Given the description of an element on the screen output the (x, y) to click on. 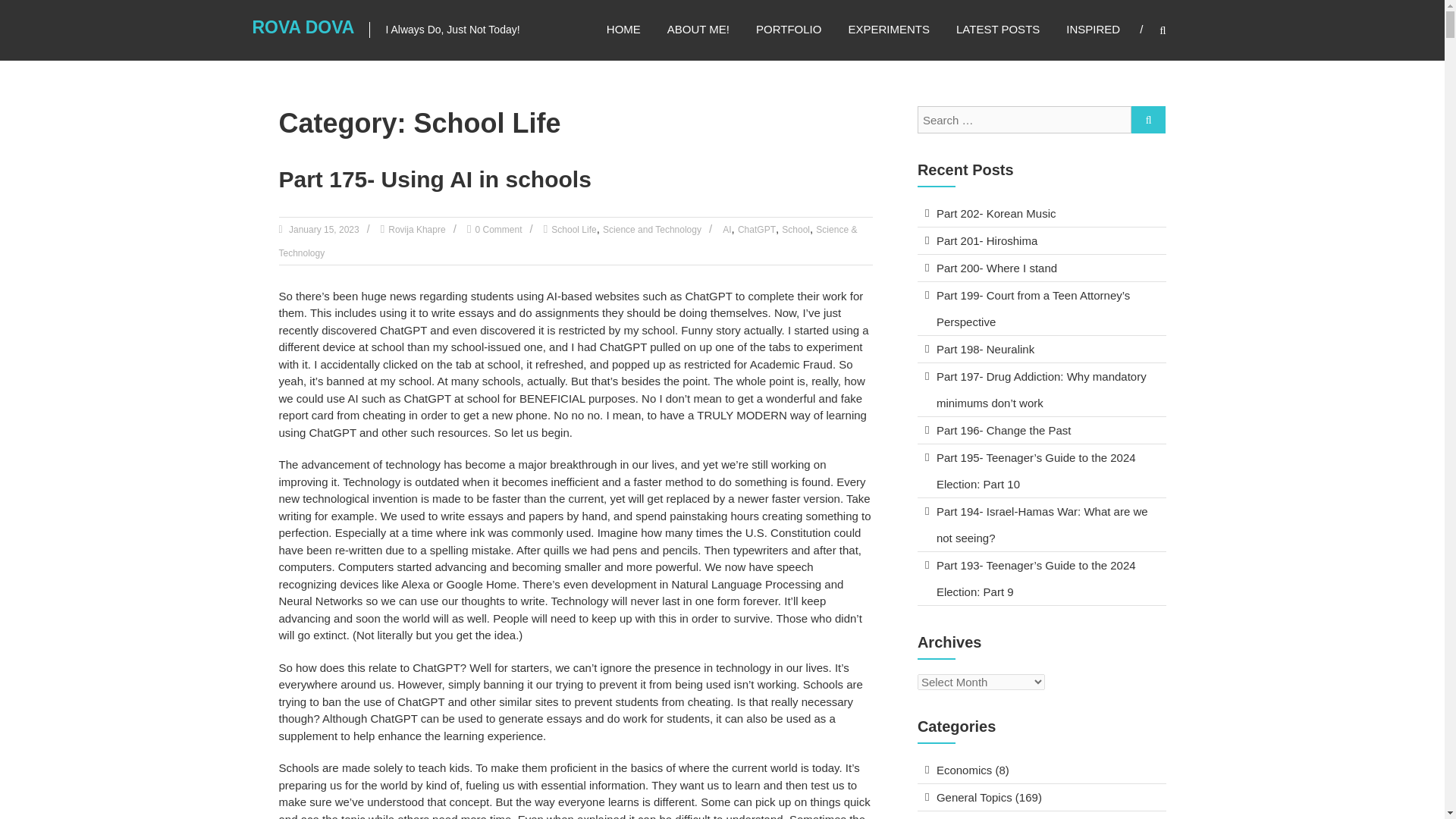
Search (1232, 409)
0 Comment (497, 229)
School Life (573, 229)
LATEST POSTS (997, 29)
Part 175- Using AI in schools (435, 179)
PORTFOLIO (788, 29)
Part 175- Using AI in schools (435, 179)
ABOUT ME! (697, 29)
Rova Dova (302, 26)
January 15, 2023 (322, 229)
School (795, 229)
ChatGPT (757, 229)
EXPERIMENTS (888, 29)
Science and Technology (651, 229)
ROVA DOVA (302, 26)
